Given the description of an element on the screen output the (x, y) to click on. 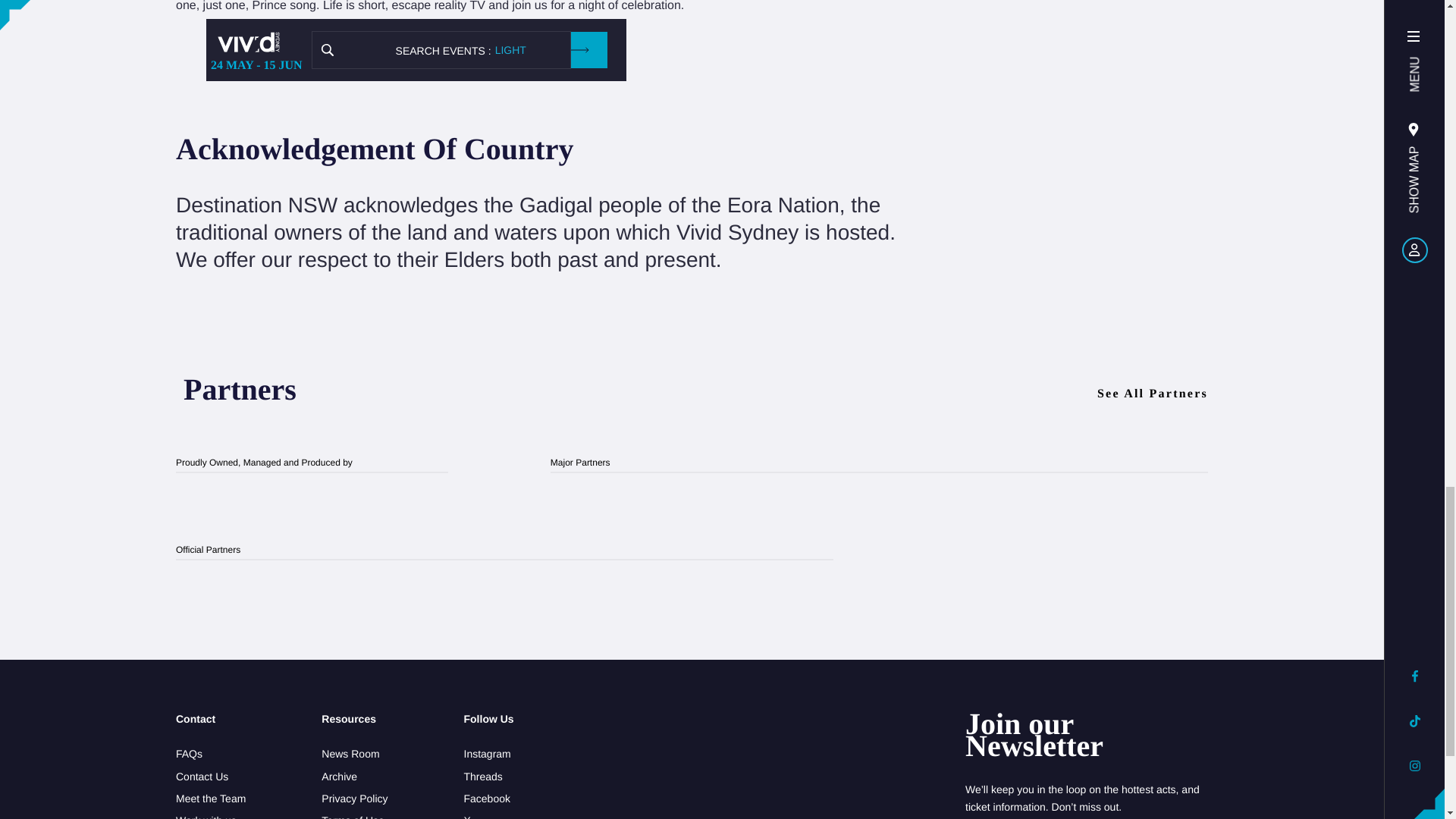
Contact us (211, 776)
Archive (354, 776)
Threads (488, 776)
News Room (354, 753)
Instagram (488, 753)
Facebook (488, 798)
